Given the description of an element on the screen output the (x, y) to click on. 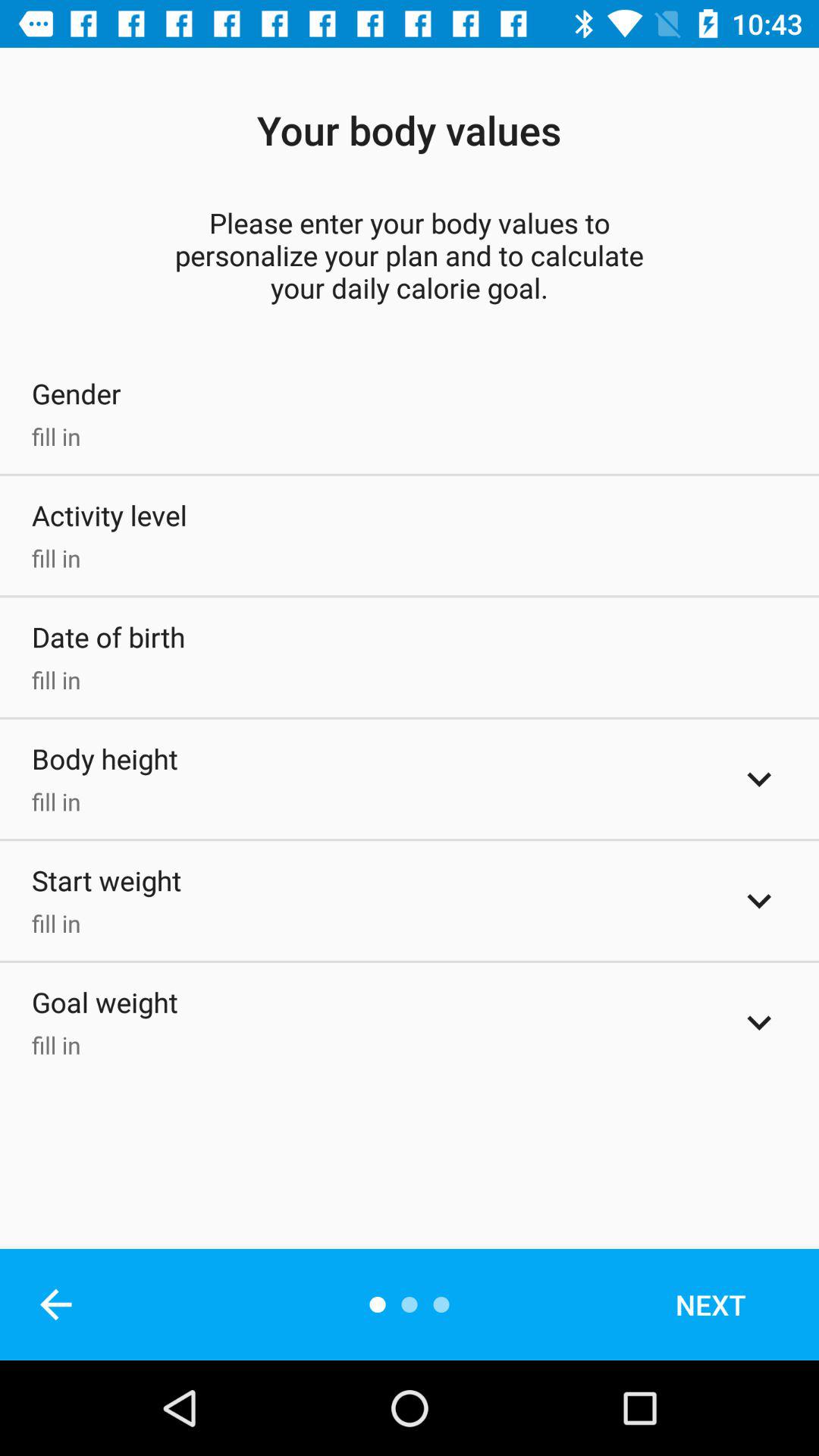
launch next item (731, 1304)
